Given the description of an element on the screen output the (x, y) to click on. 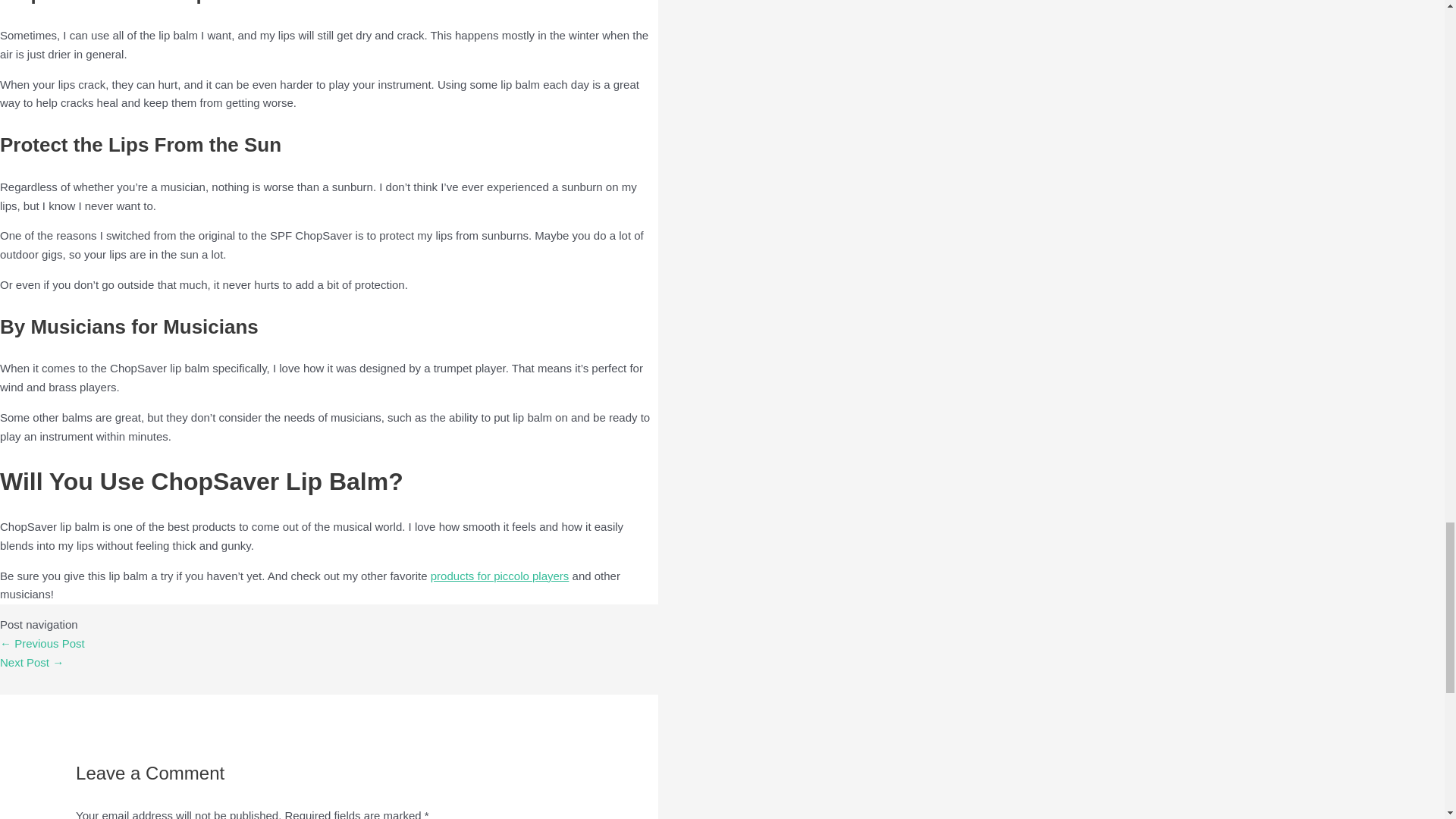
7 Piccolo Resources for College Flute Players (42, 643)
Is Piccolo Harder Than Flute? (32, 662)
products for piccolo players (499, 575)
